Given the description of an element on the screen output the (x, y) to click on. 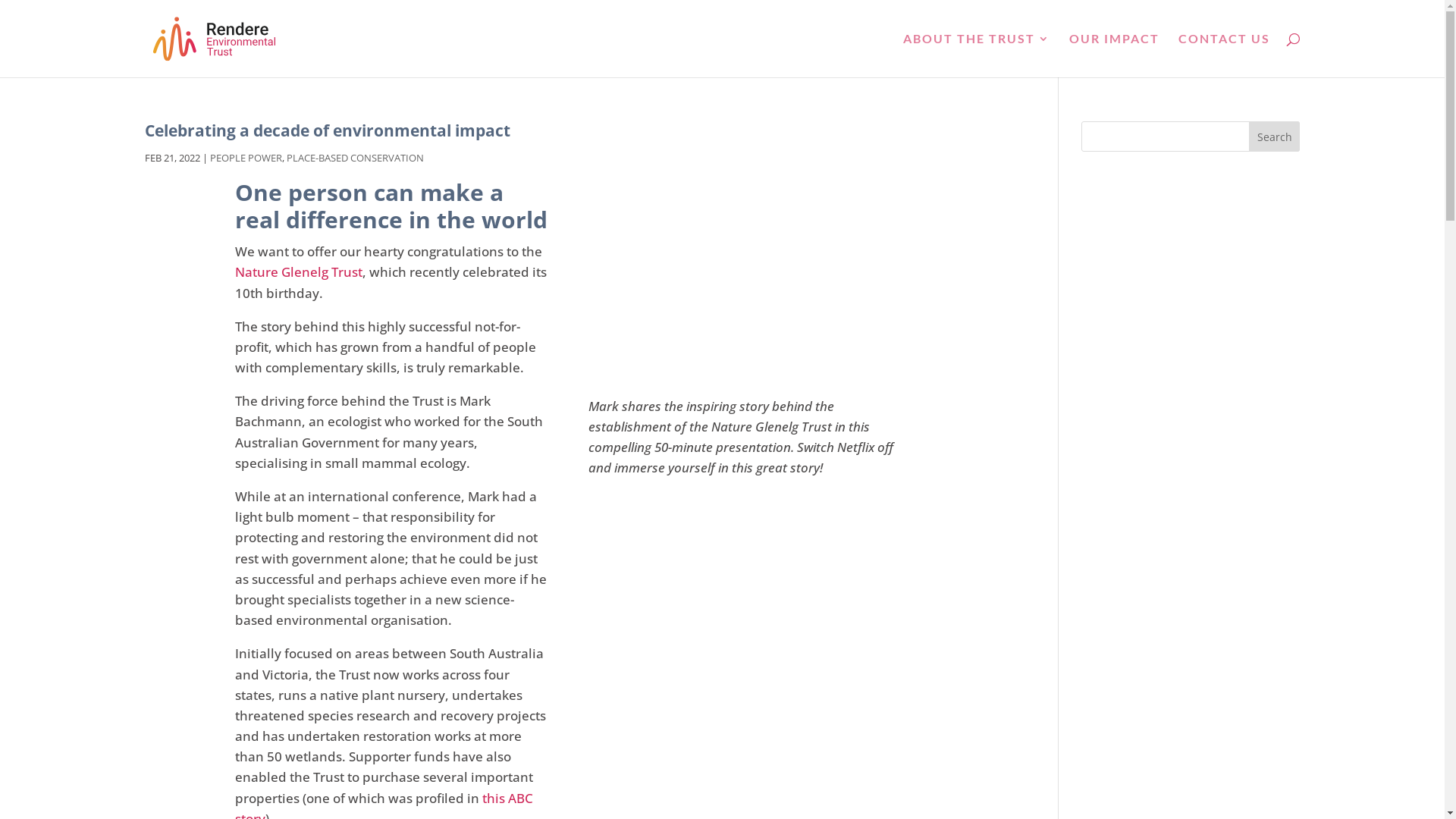
Celebrating a decade of environmental impact Element type: text (326, 130)
OUR IMPACT Element type: text (1114, 55)
Nature Glenelg Trust Element type: text (298, 271)
ABOUT THE TRUST Element type: text (975, 55)
PEOPLE POWER Element type: text (245, 157)
CONTACT US Element type: text (1224, 55)
Search Element type: text (1274, 136)
PLACE-BASED CONSERVATION Element type: text (354, 157)
